Given the description of an element on the screen output the (x, y) to click on. 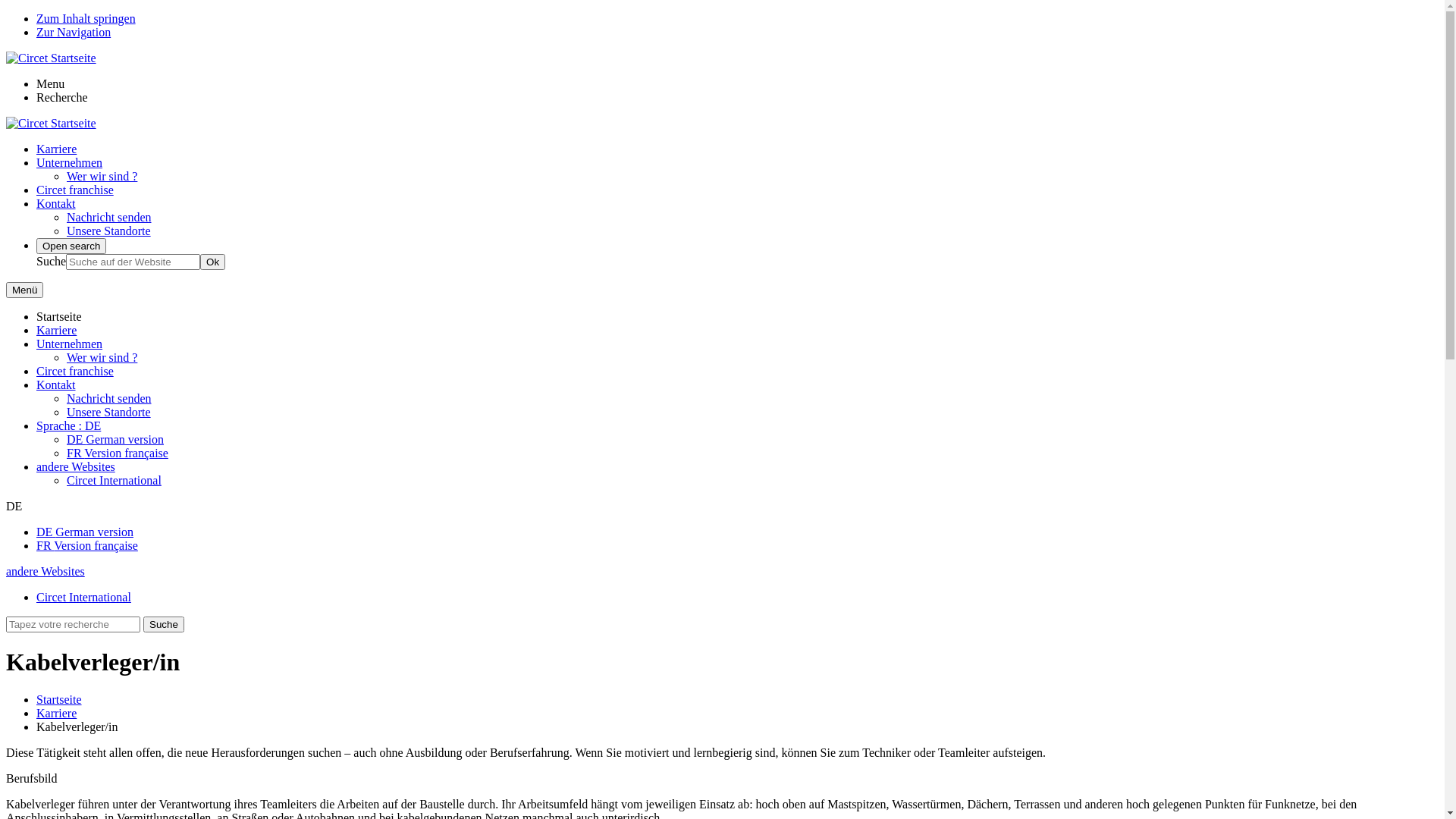
Karriere Element type: text (56, 148)
Kontakt Element type: text (55, 203)
Wer wir sind ? Element type: text (101, 175)
Menu Element type: text (50, 83)
DE German version Element type: text (114, 439)
DE German version Element type: text (84, 531)
Recherche Element type: text (61, 97)
Circet Startseite Element type: hover (51, 122)
Unternehmen Element type: text (69, 162)
Zum Inhalt springen Element type: text (85, 18)
Startseite Element type: text (58, 699)
andere Websites Element type: text (45, 570)
Nachricht senden Element type: text (108, 398)
DE Element type: text (13, 505)
Open search Element type: text (71, 246)
Circet franchise Element type: text (74, 189)
Circet International Element type: text (83, 596)
Karriere Element type: text (56, 329)
Sprache : DE Element type: text (68, 425)
Suche Element type: text (163, 624)
Zur Navigation Element type: text (73, 31)
Unsere Standorte Element type: text (108, 230)
Wer wir sind ? Element type: text (101, 357)
Circet International Element type: text (113, 479)
Circet franchise Element type: text (74, 370)
Unternehmen Element type: text (69, 343)
Ok Element type: text (212, 261)
Unsere Standorte Element type: text (108, 411)
Kontakt Element type: text (55, 384)
Karriere Element type: text (56, 712)
Circet Startseite Element type: hover (51, 57)
Nachricht senden Element type: text (108, 216)
andere Websites Element type: text (75, 466)
